Given the description of an element on the screen output the (x, y) to click on. 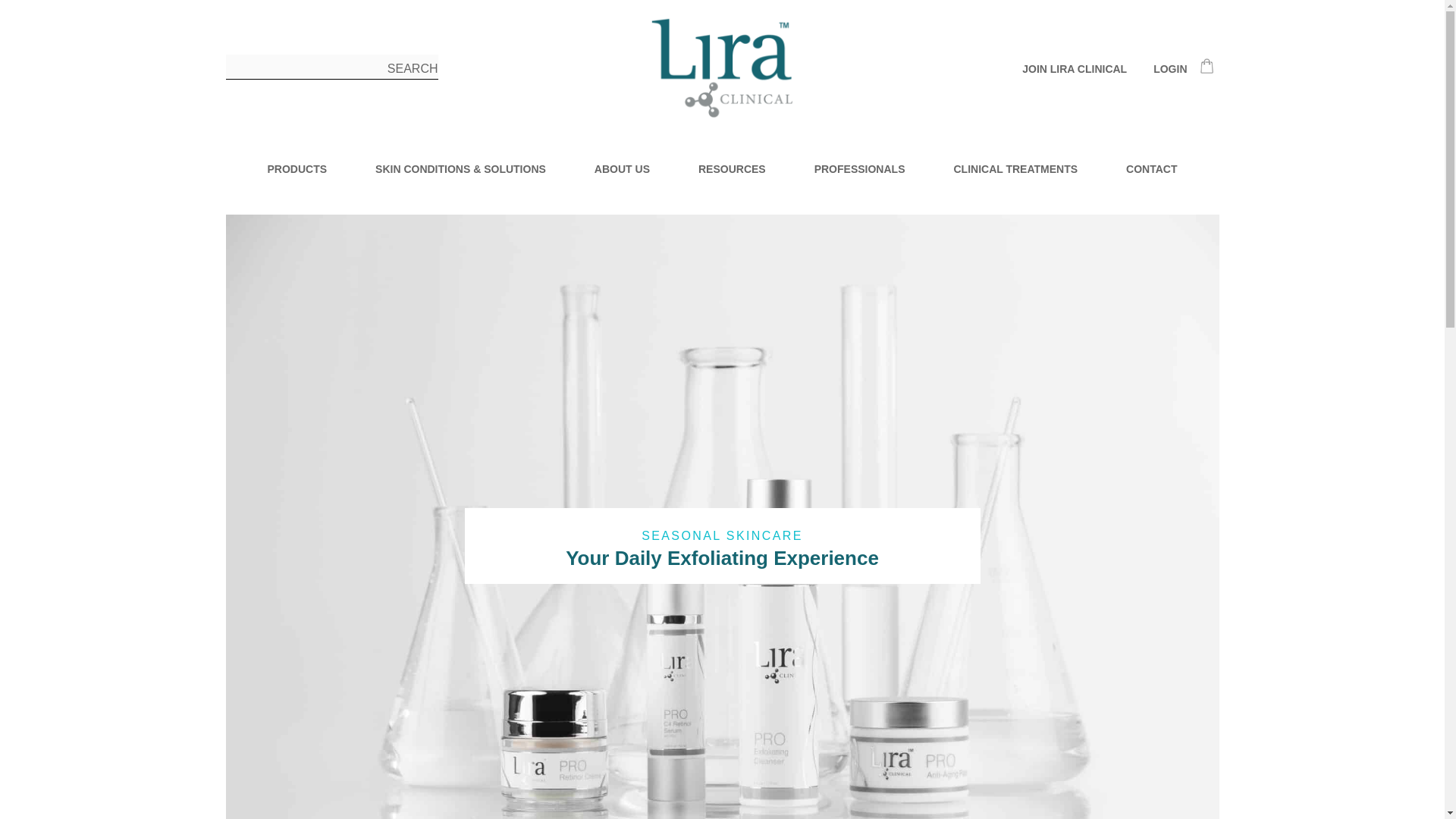
Search (409, 69)
Search (409, 69)
JOIN LIRA CLINICAL (1074, 68)
RESOURCES (731, 168)
ABOUT US (621, 168)
PRODUCTS (296, 168)
LOGIN (1163, 68)
